Given the description of an element on the screen output the (x, y) to click on. 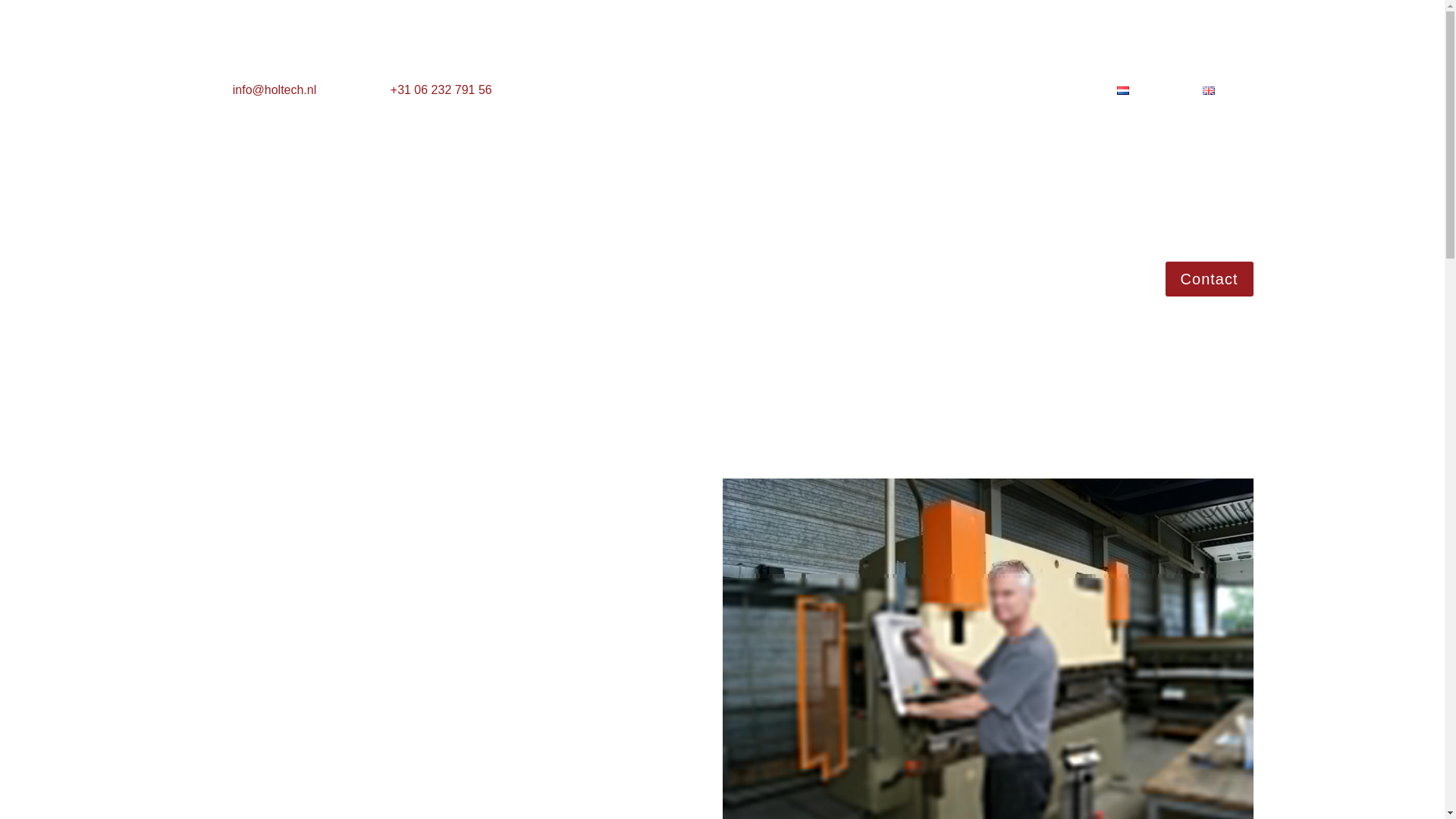
Nederlands (1151, 93)
Robot integration (393, 290)
Maintenance and service (509, 290)
E-mail (274, 89)
Telefoon (441, 89)
Machine safety (300, 290)
Contact (1209, 278)
English (1227, 93)
